Given the description of an element on the screen output the (x, y) to click on. 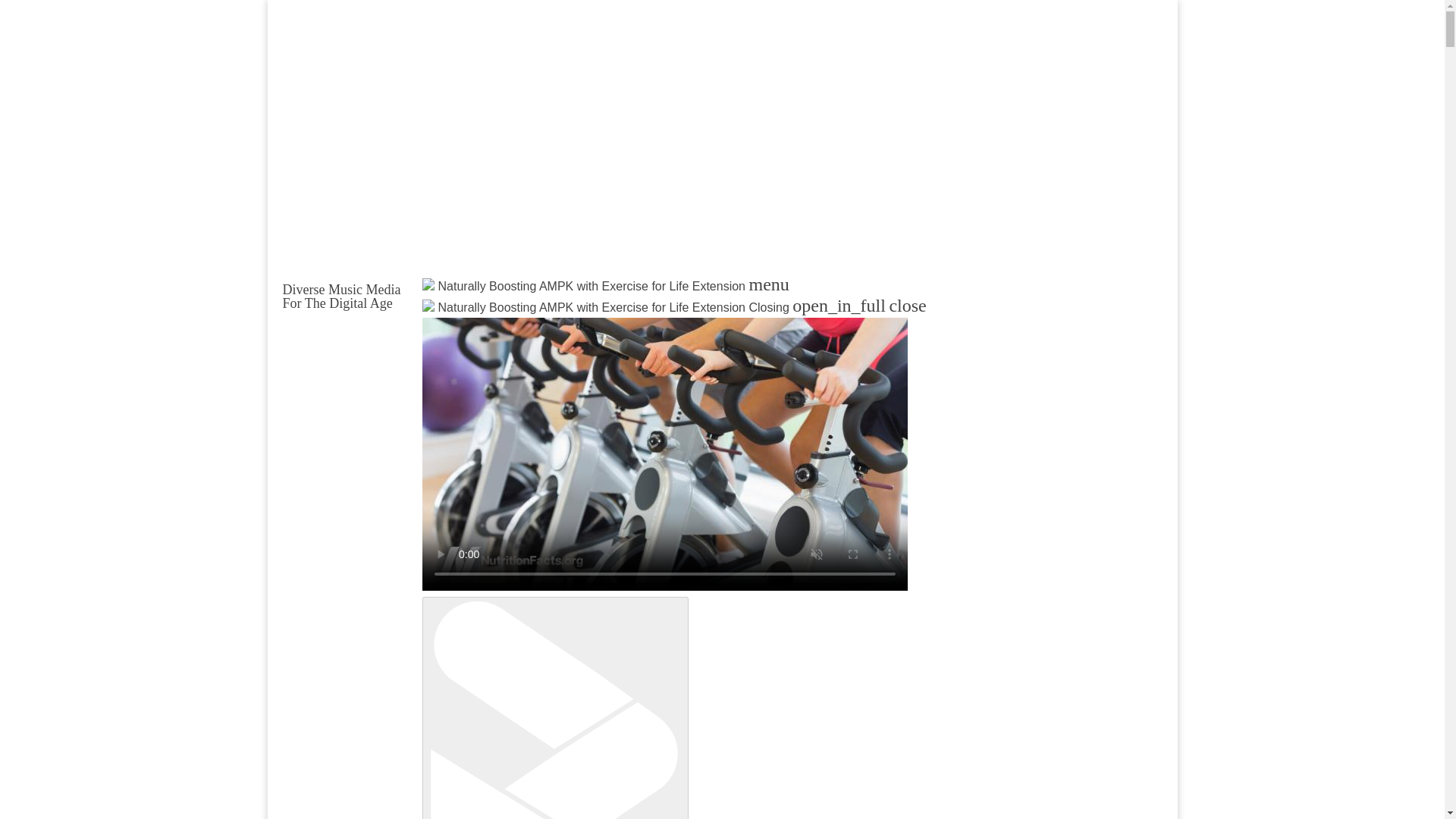
YouTube video player (478, 149)
Skope Entertainment Inc (462, 323)
Skope Entertainment Inc (462, 323)
